Given the description of an element on the screen output the (x, y) to click on. 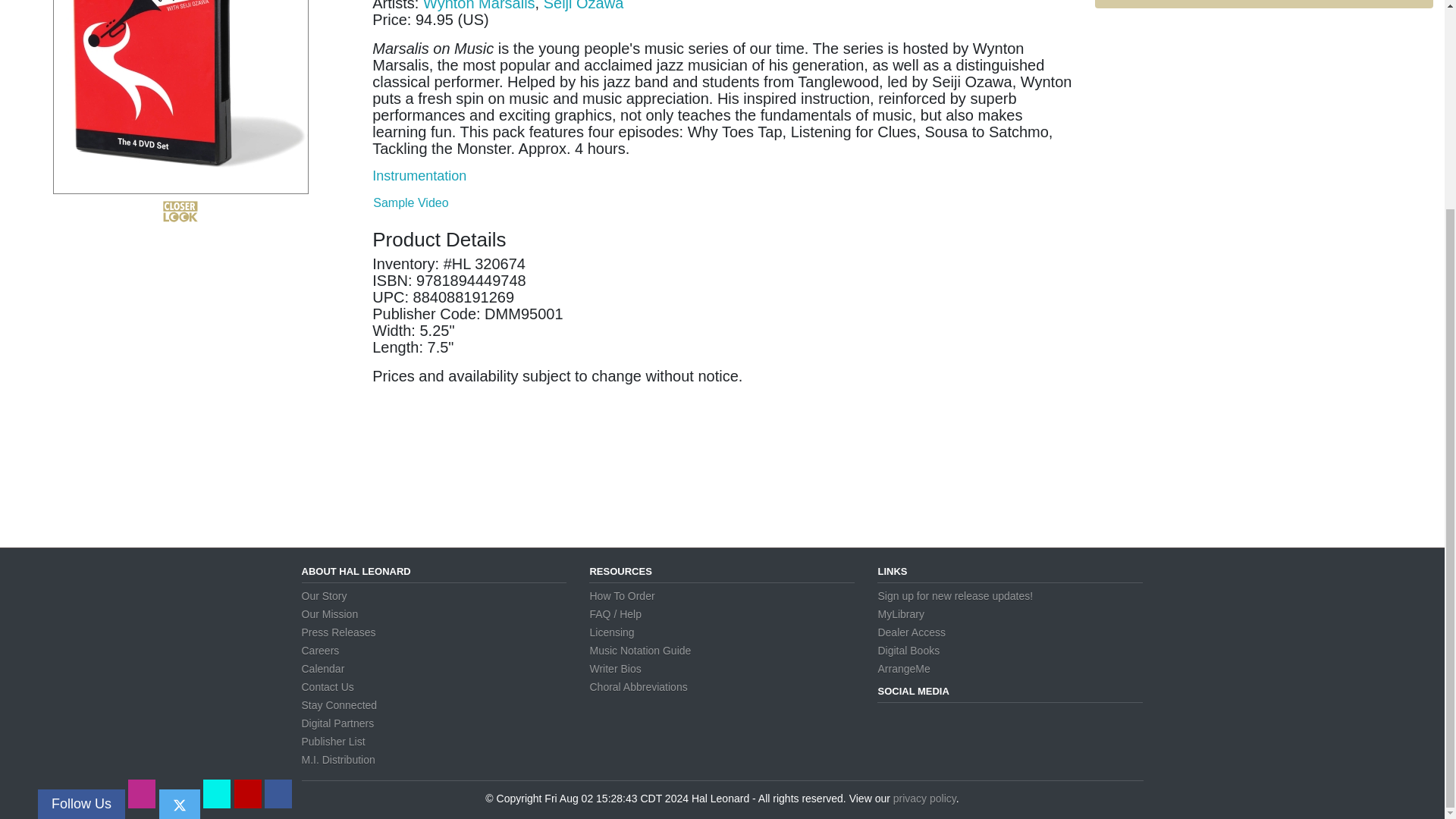
Closer Look (180, 210)
